Given the description of an element on the screen output the (x, y) to click on. 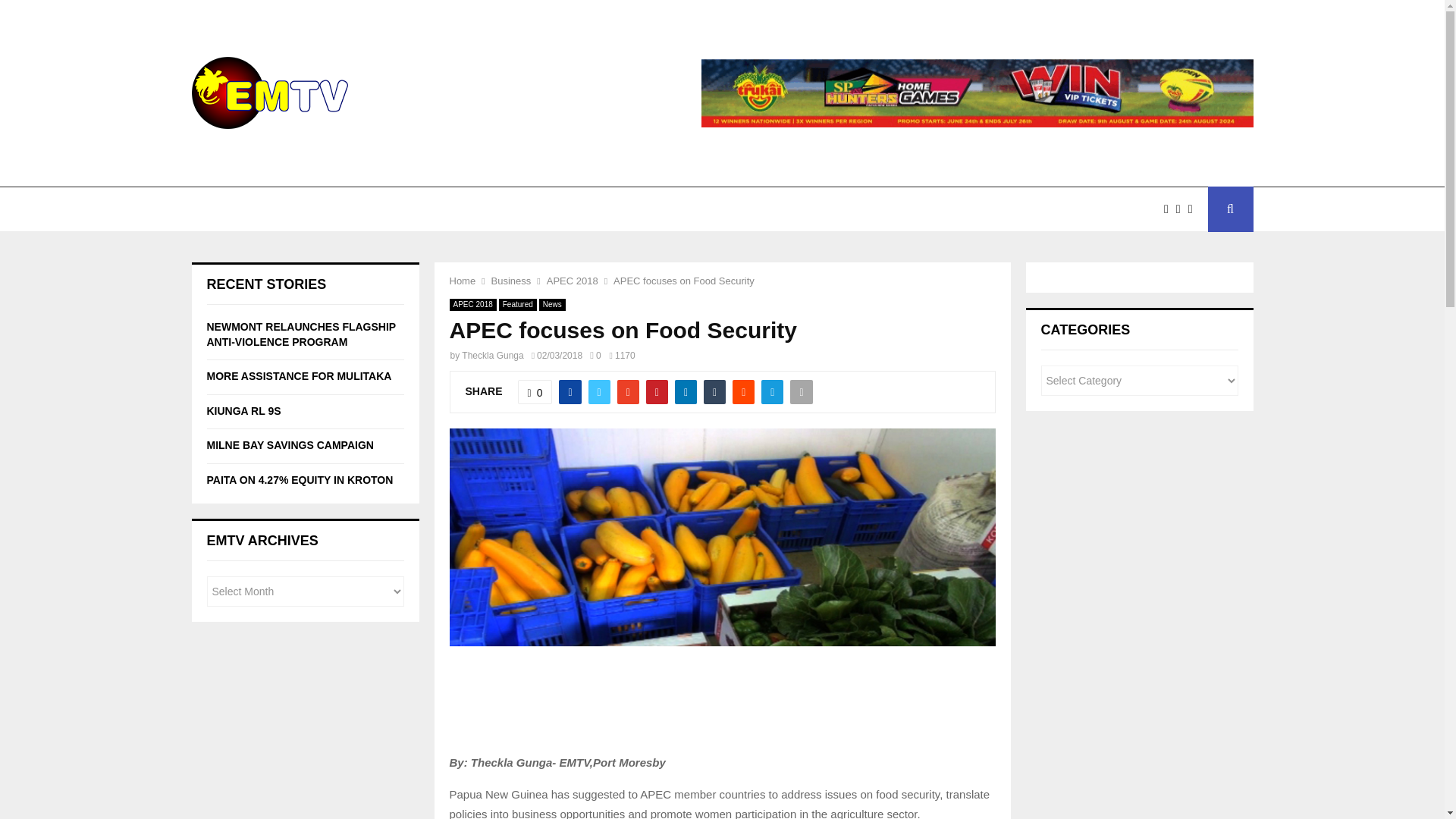
SPORT (606, 208)
TV SCHEDULE (405, 208)
Like (535, 392)
NEWS (224, 208)
LIFE (674, 208)
PROGRAMMES (514, 208)
WATCH NOW (306, 208)
